Given the description of an element on the screen output the (x, y) to click on. 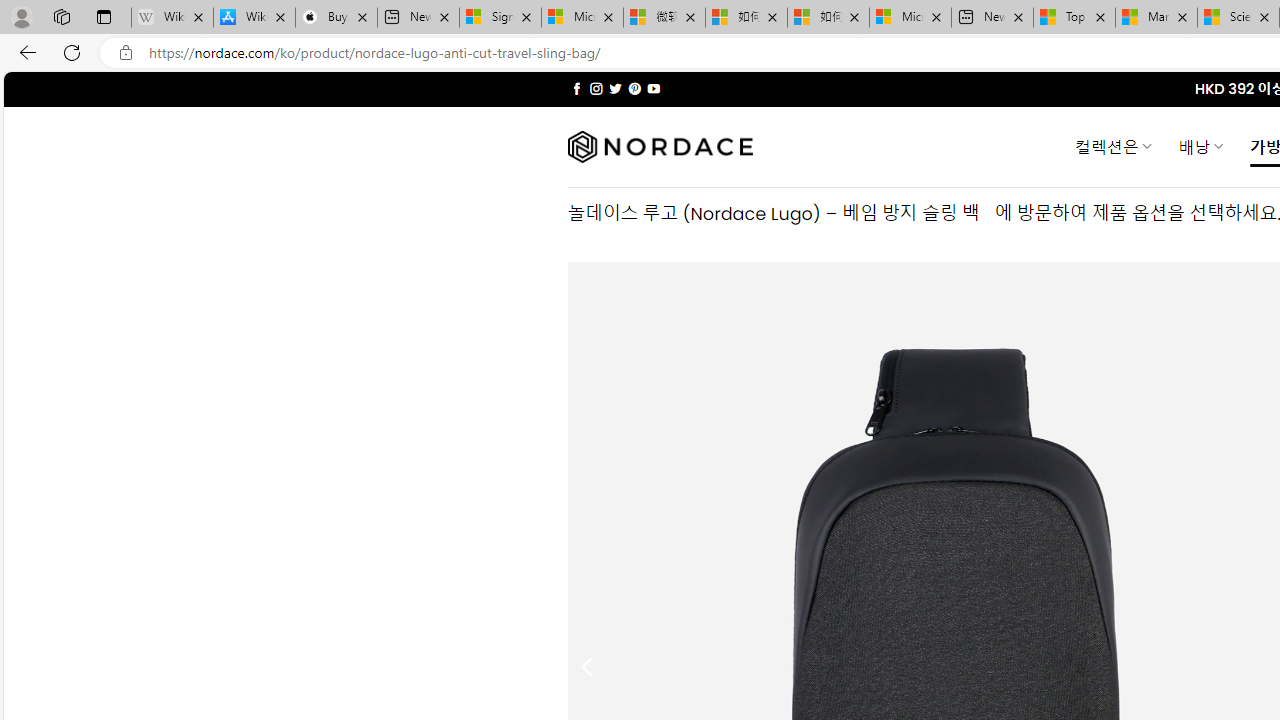
Nordace (659, 147)
Follow on YouTube (653, 88)
Marine life - MSN (1156, 17)
Nordace (659, 147)
Sign in to your Microsoft account (500, 17)
Wikipedia - Sleeping (171, 17)
